Given the description of an element on the screen output the (x, y) to click on. 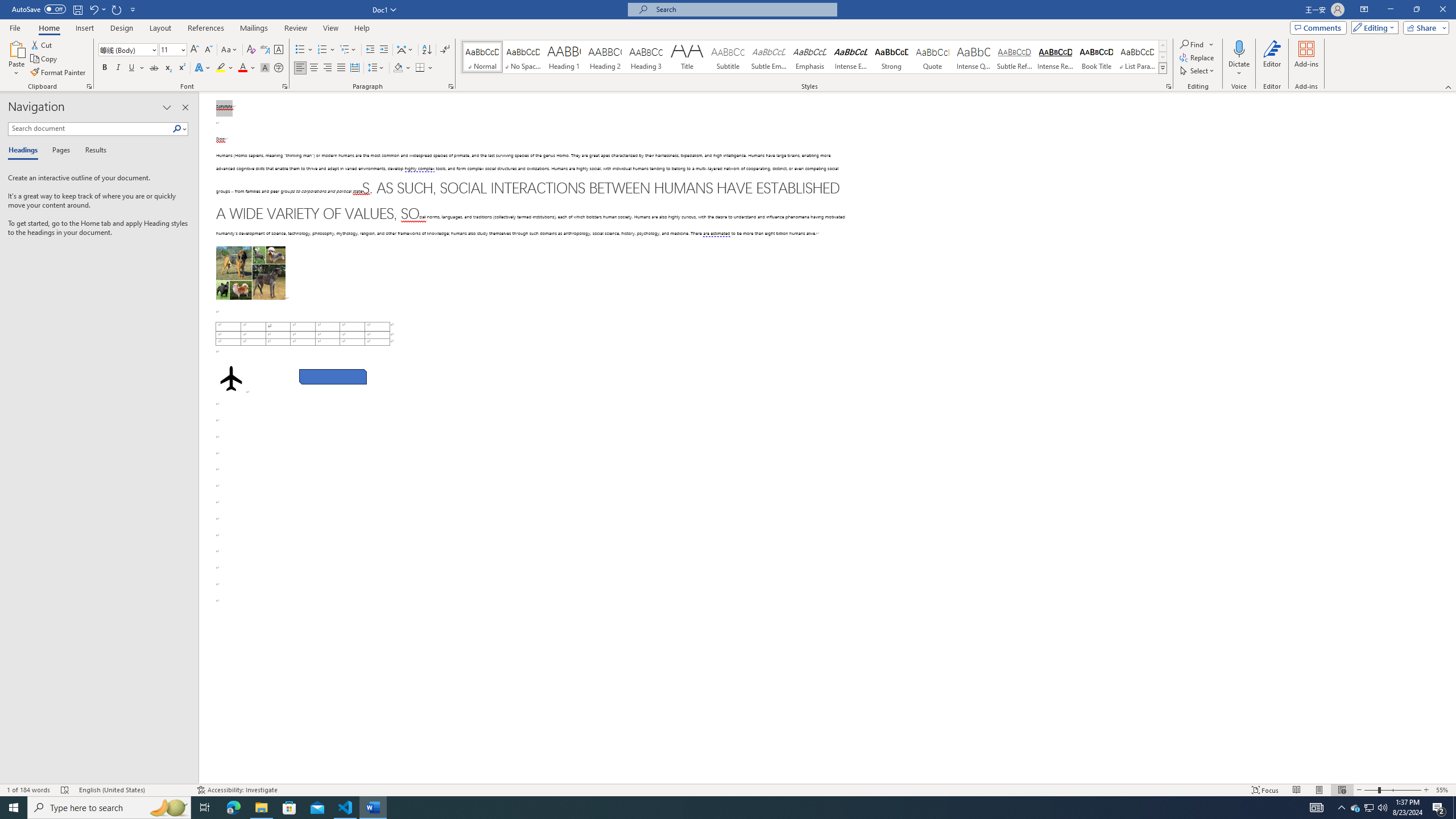
Help (361, 28)
Print Layout (1318, 790)
Headings (25, 150)
Numbering (322, 49)
Office Clipboard... (88, 85)
Zoom In (1426, 790)
Read Mode (1296, 790)
Undo Apply Quick Style (92, 9)
Superscript (180, 67)
Quote (932, 56)
Paste (16, 58)
Align Right (327, 67)
Pages (59, 150)
